Given the description of an element on the screen output the (x, y) to click on. 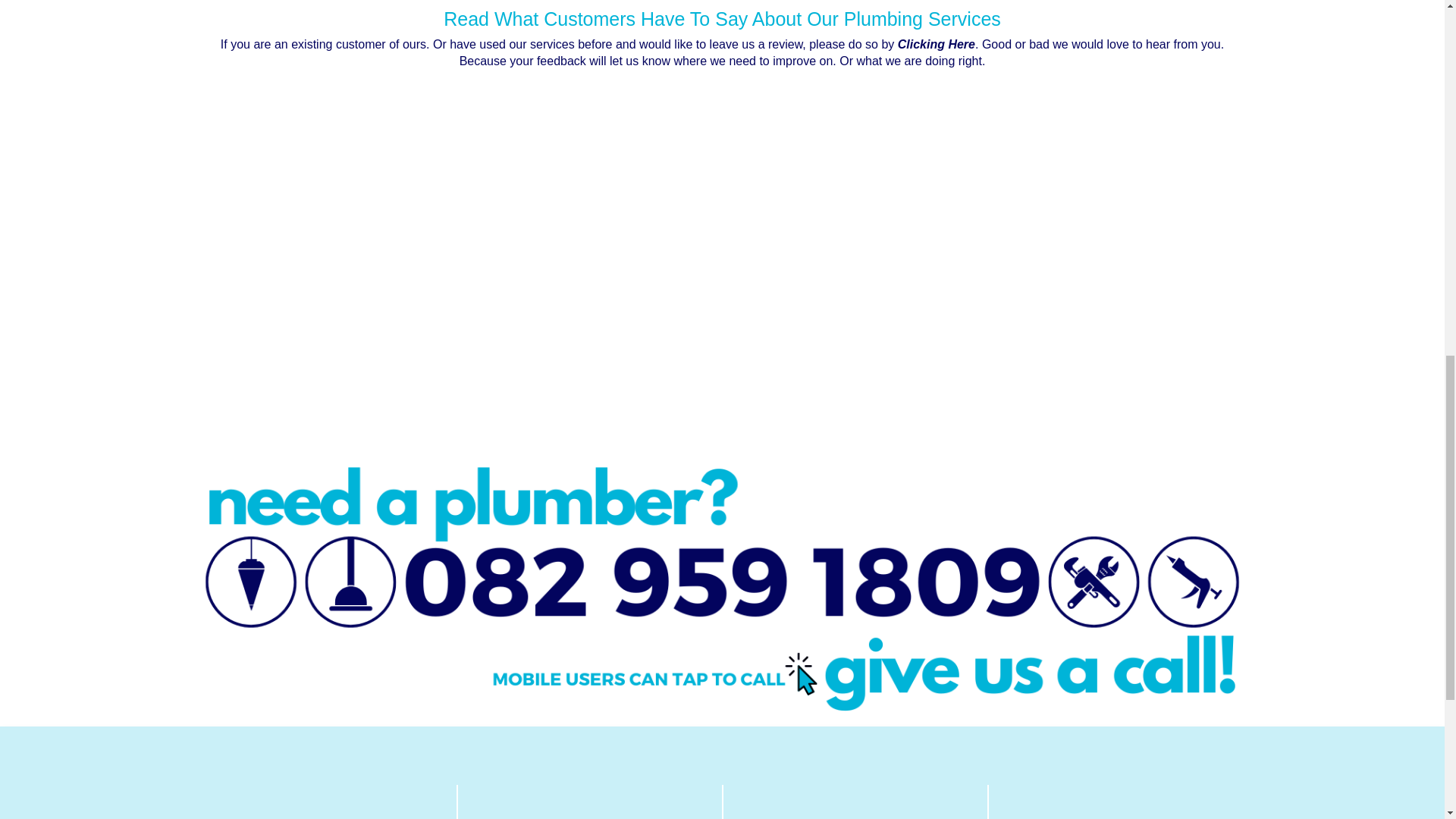
Clicking Here (936, 43)
Clicking Here (936, 43)
